Given the description of an element on the screen output the (x, y) to click on. 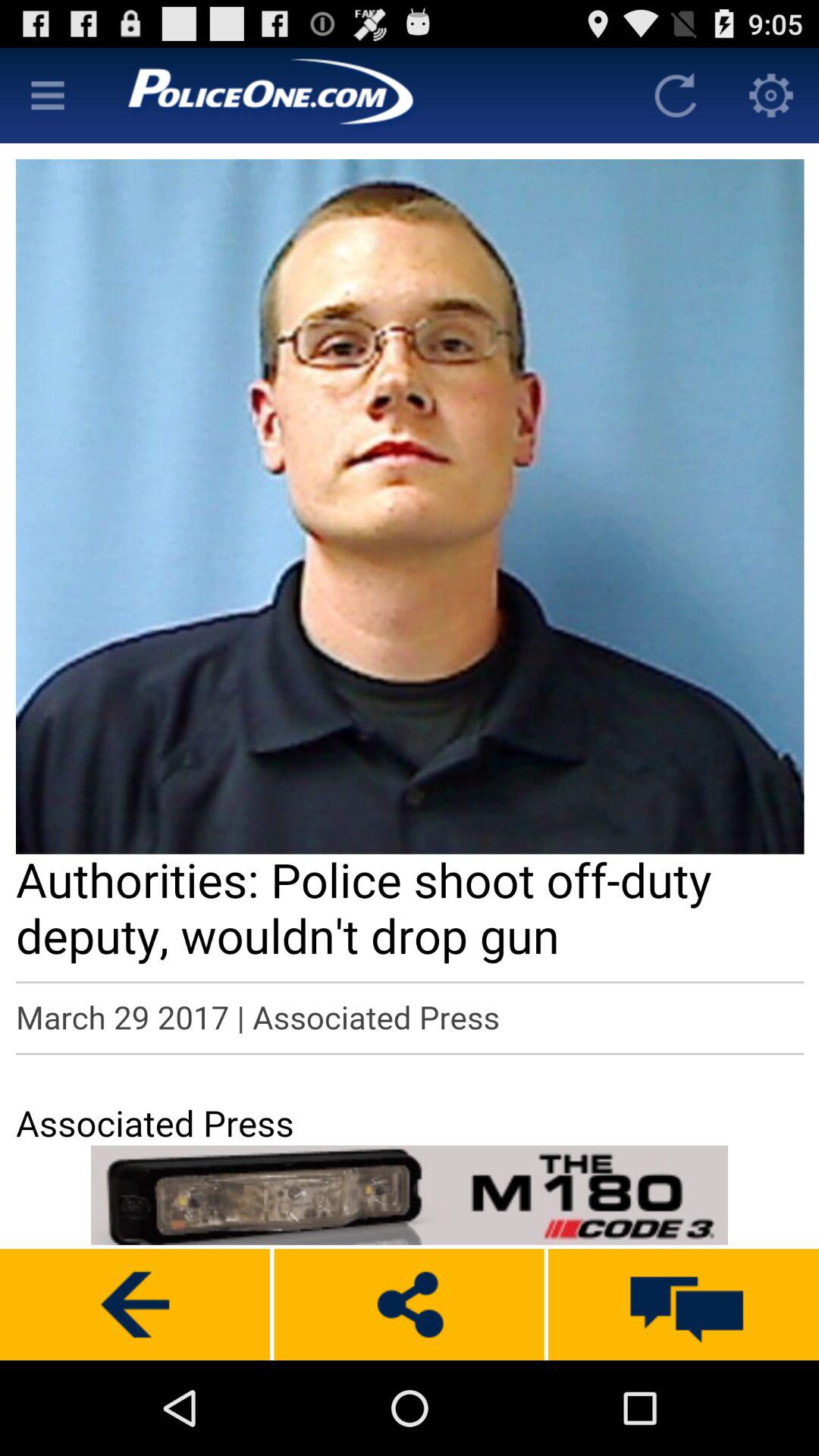
search (47, 95)
